Given the description of an element on the screen output the (x, y) to click on. 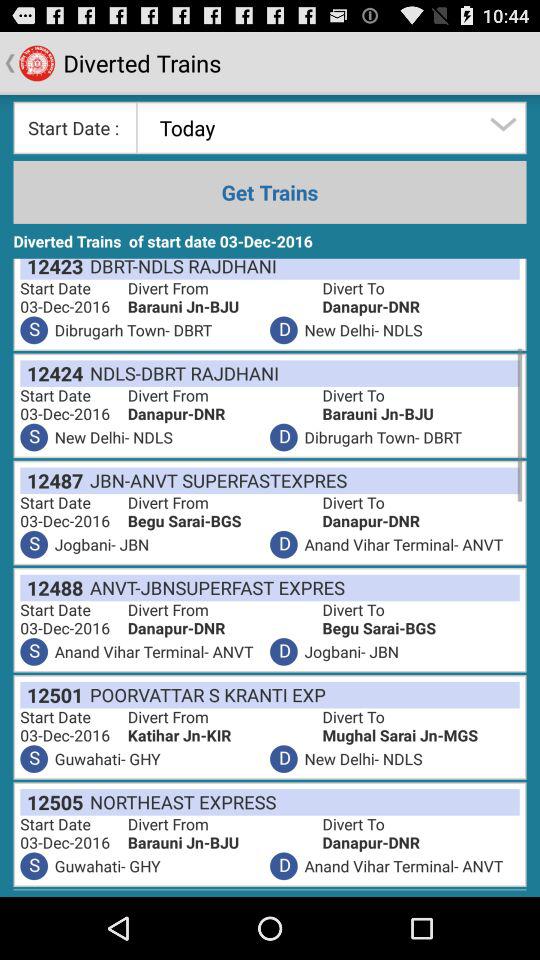
choose app below the   s (51, 801)
